Given the description of an element on the screen output the (x, y) to click on. 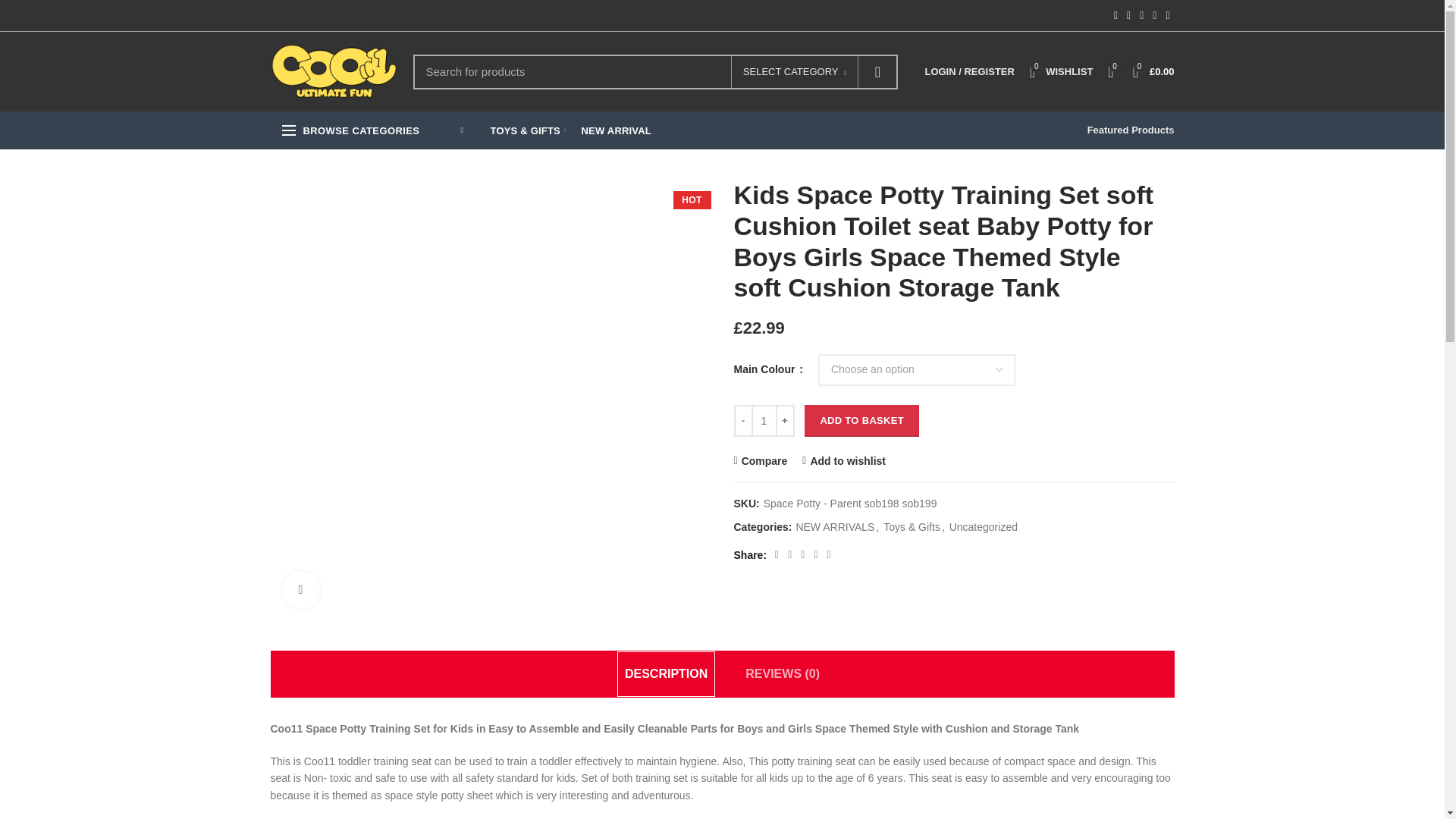
SELECT CATEGORY (794, 71)
Shopping cart (1153, 71)
My Wishlist (1061, 71)
My account (969, 71)
SELECT CATEGORY (795, 72)
SEARCH (877, 71)
